Given the description of an element on the screen output the (x, y) to click on. 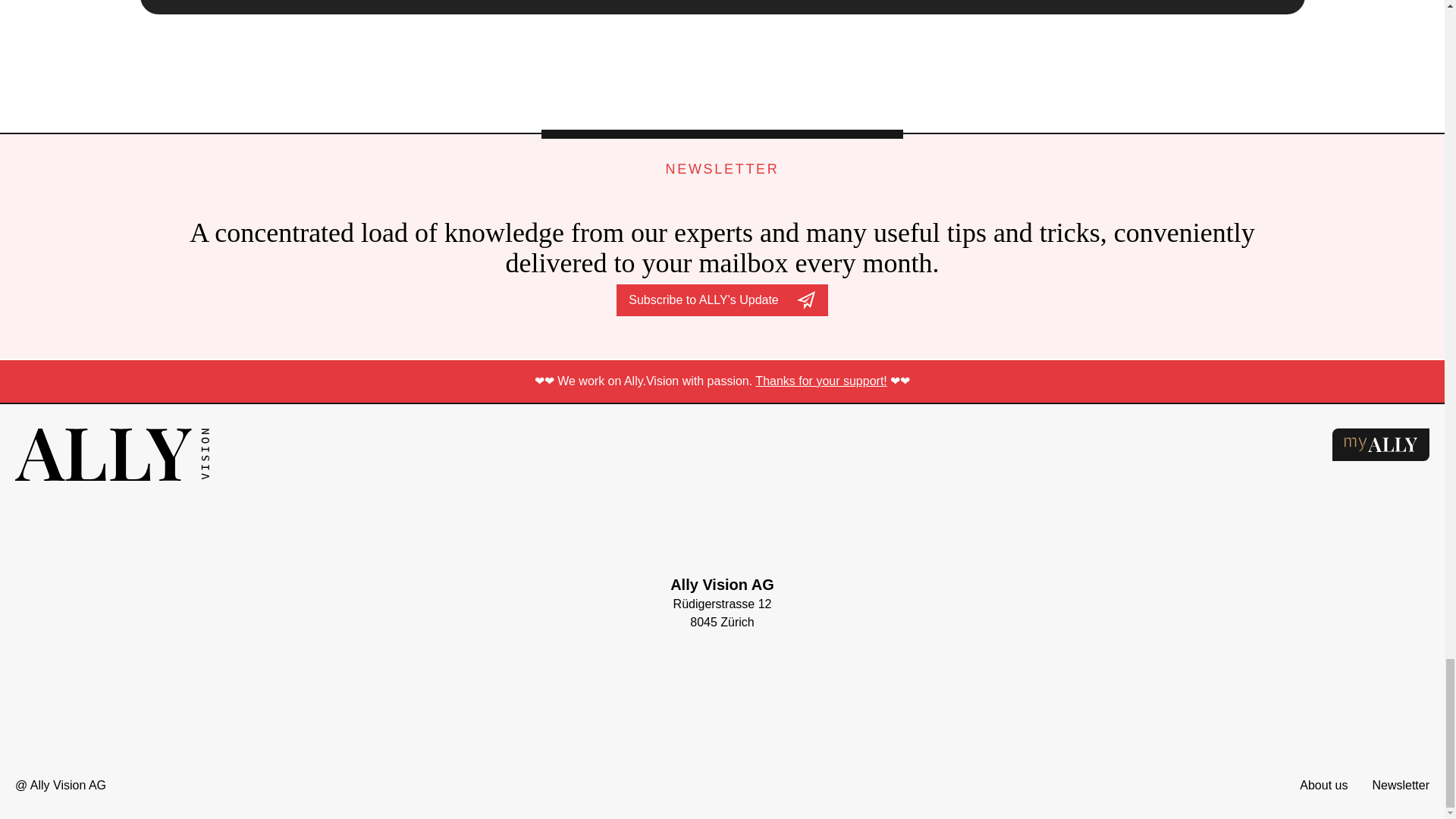
Subscribe to ALLY's Update (721, 300)
About us (1324, 784)
Thanks for your support! (820, 380)
